Given the description of an element on the screen output the (x, y) to click on. 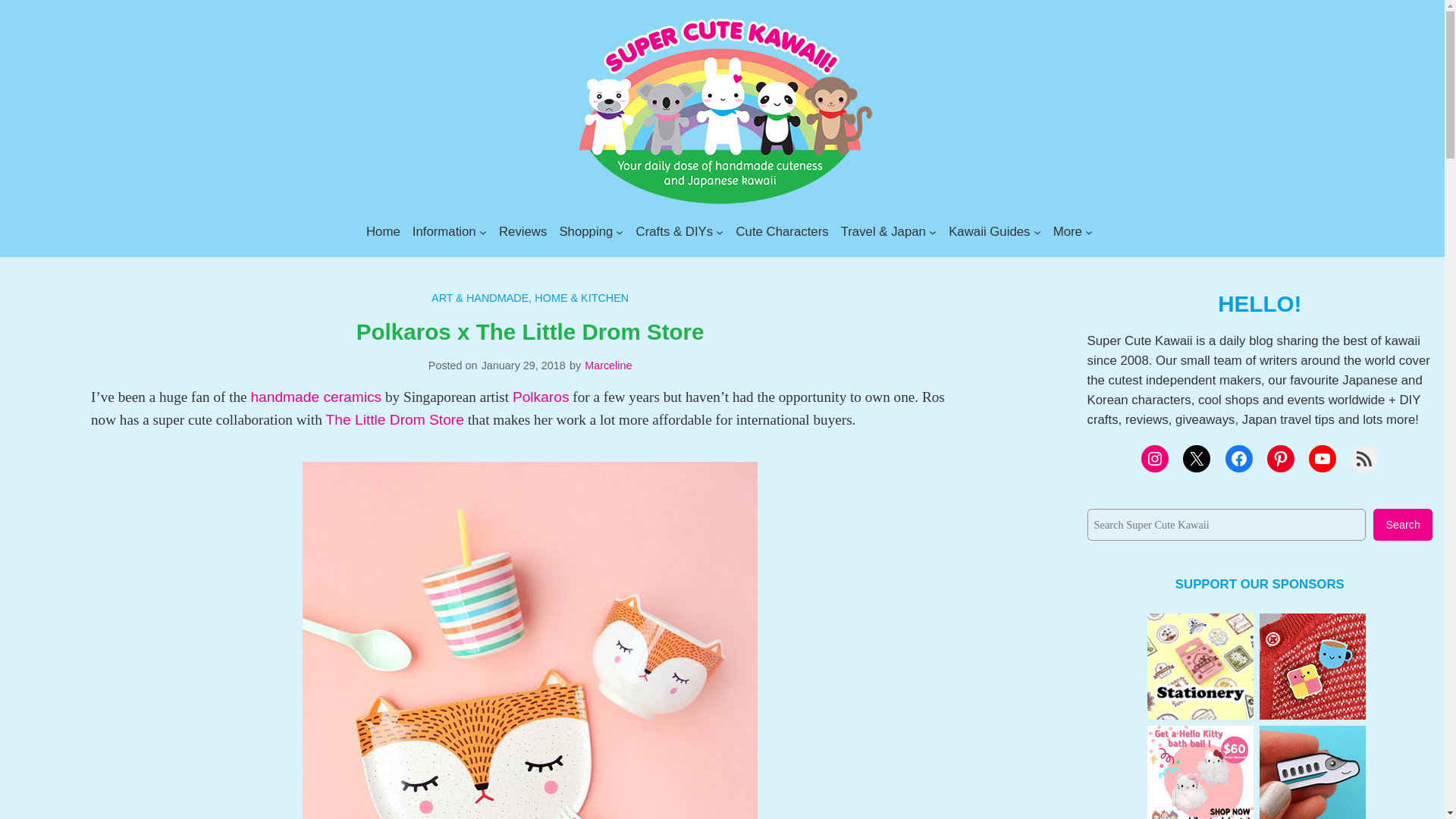
Reviews (523, 231)
Shopping (585, 231)
Information (444, 231)
Home (383, 231)
